Given the description of an element on the screen output the (x, y) to click on. 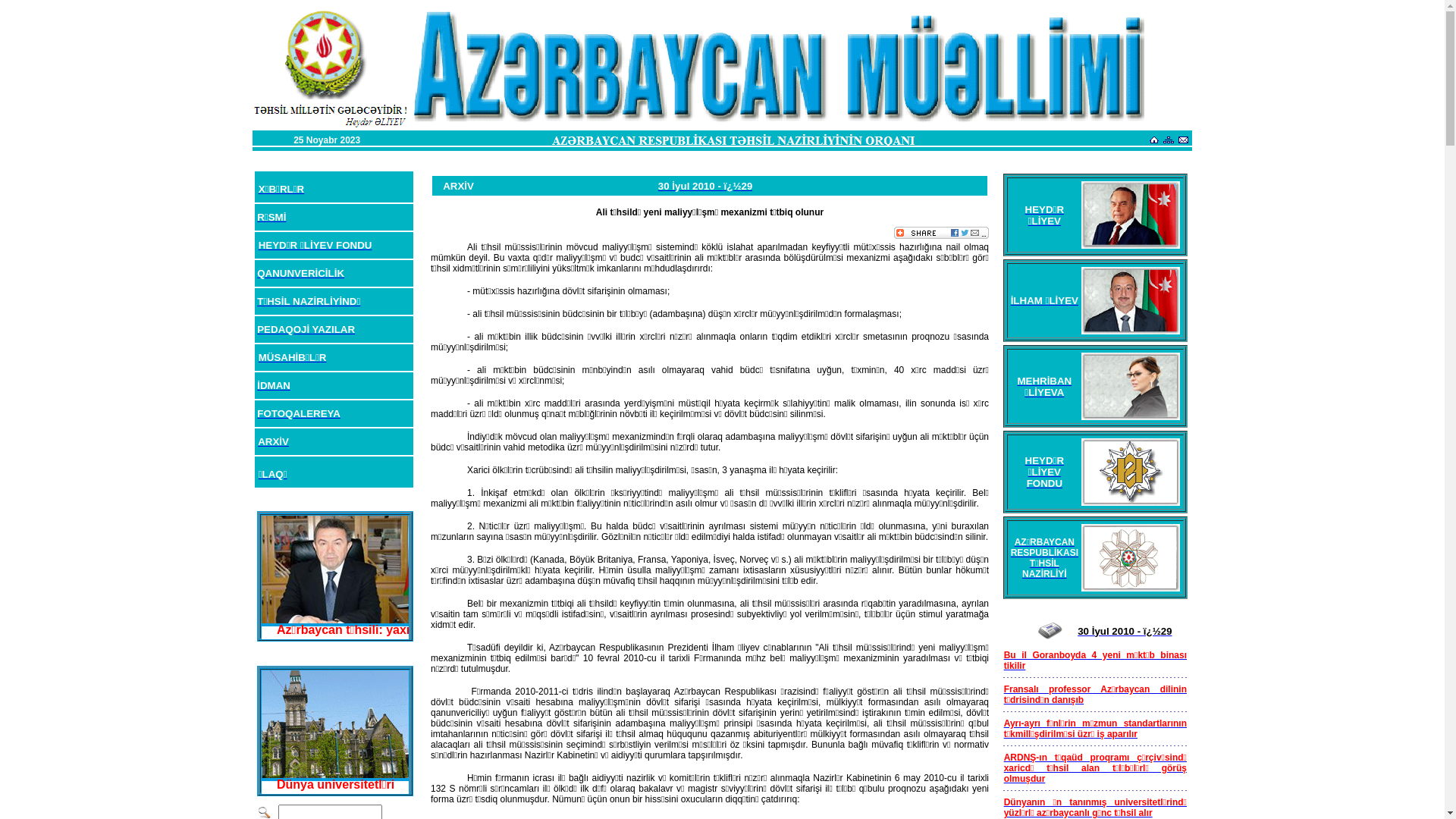
..: - muallim.edu.az - :.. Element type: hover (336, 608)
FOTOQALEREYA Element type: text (298, 413)
9 Element type: text (749, 185)
..: - muallim.edu.az - :.. Element type: hover (336, 253)
..: - muallim.edu.az - :.. Element type: hover (336, 489)
..: - muallim.edu.az - :.. Element type: hover (336, 371)
..: - muallim.edu.az - :.. Element type: hover (336, 134)
9 Element type: text (1168, 630)
..: - muallim.edu.az - :.. Element type: hover (336, 726)
